Given the description of an element on the screen output the (x, y) to click on. 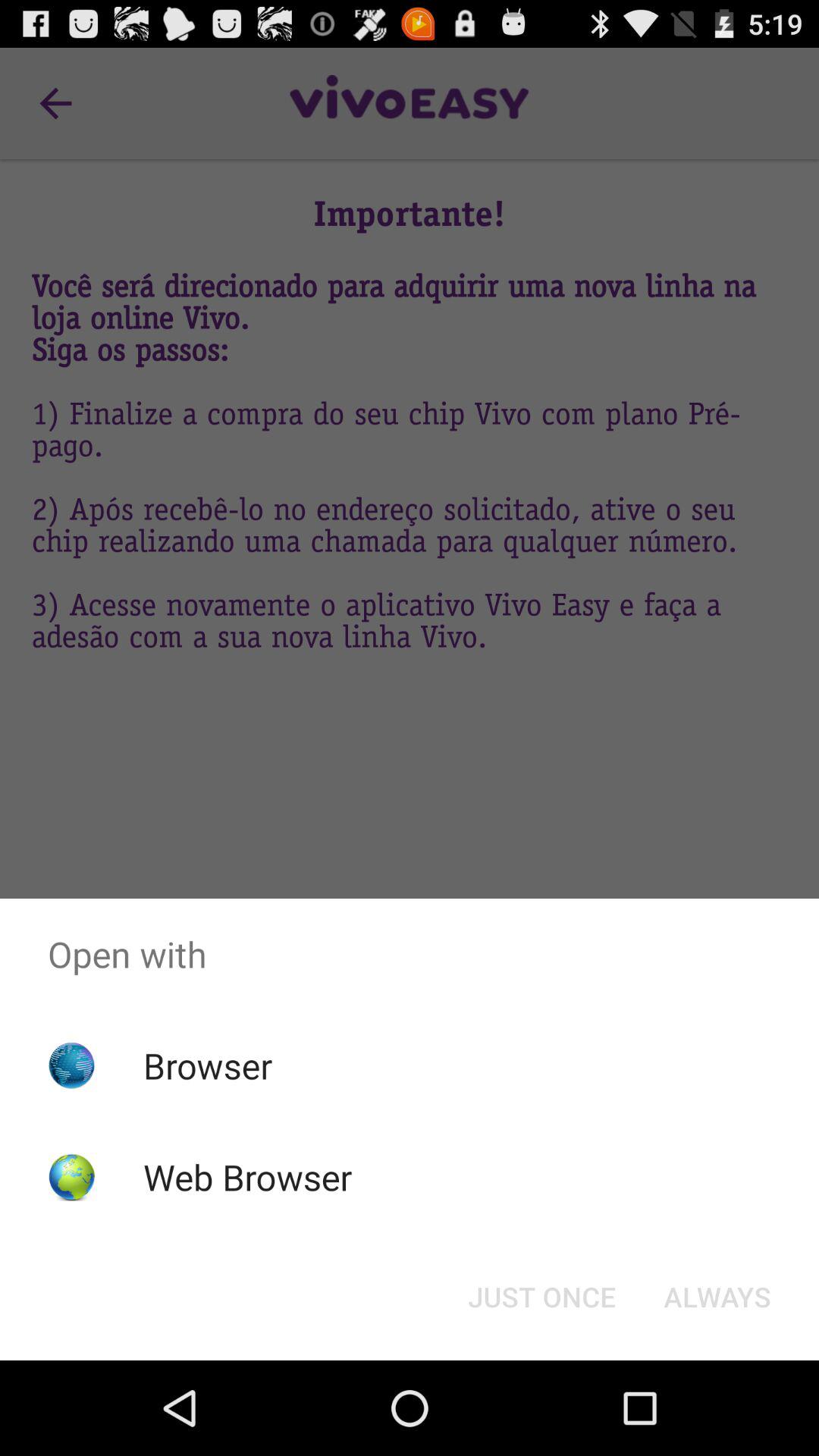
turn on app below the browser item (247, 1176)
